Given the description of an element on the screen output the (x, y) to click on. 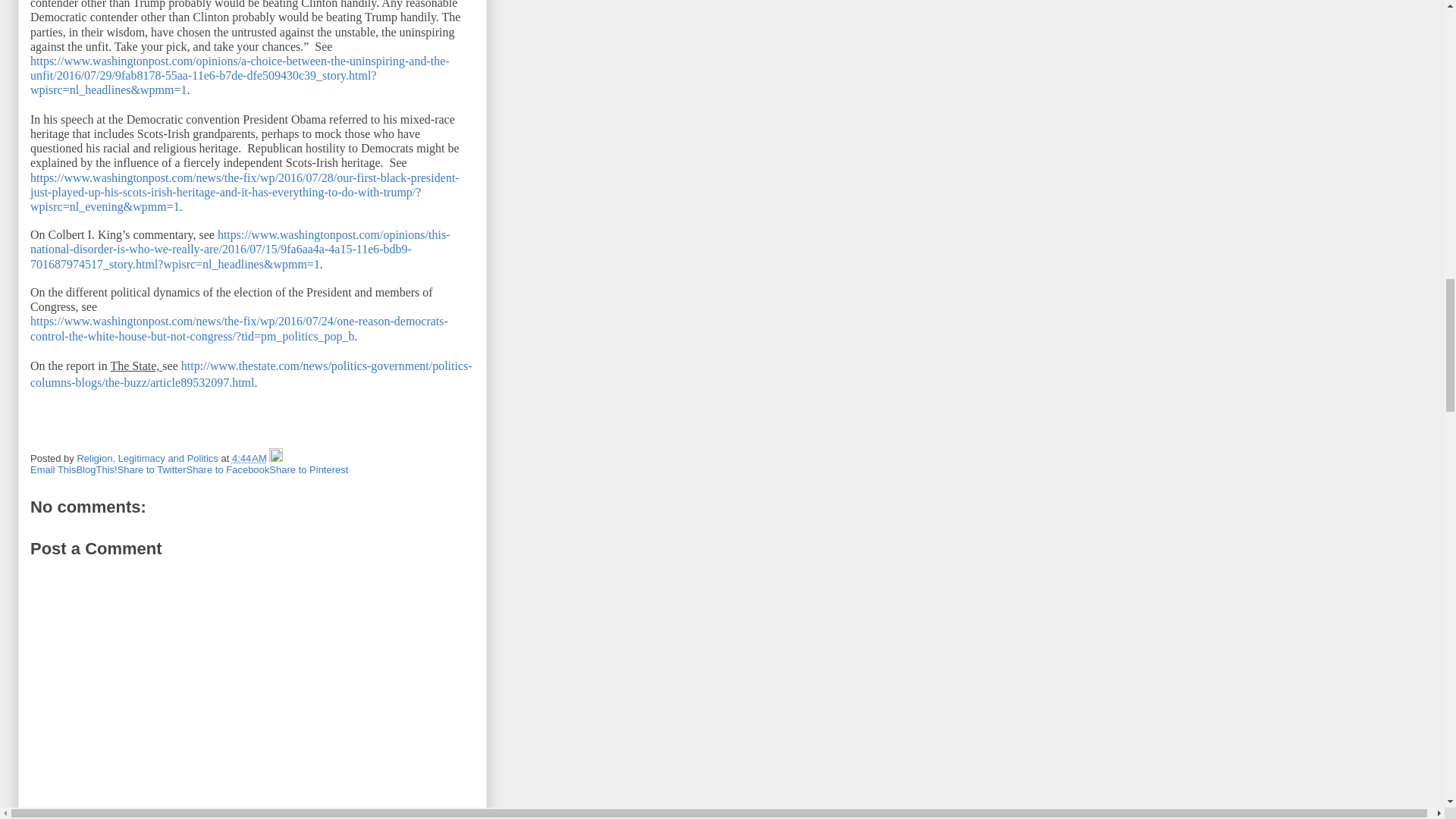
Share to Twitter (151, 469)
Email This (52, 469)
BlogThis! (95, 469)
author profile (149, 458)
Share to Twitter (151, 469)
Share to Facebook (227, 469)
Email This (52, 469)
permanent link (248, 458)
Edit Post (275, 458)
Share to Pinterest (308, 469)
BlogThis! (95, 469)
Share to Facebook (227, 469)
Share to Pinterest (308, 469)
Religion, Legitimacy and Politics (149, 458)
